Given the description of an element on the screen output the (x, y) to click on. 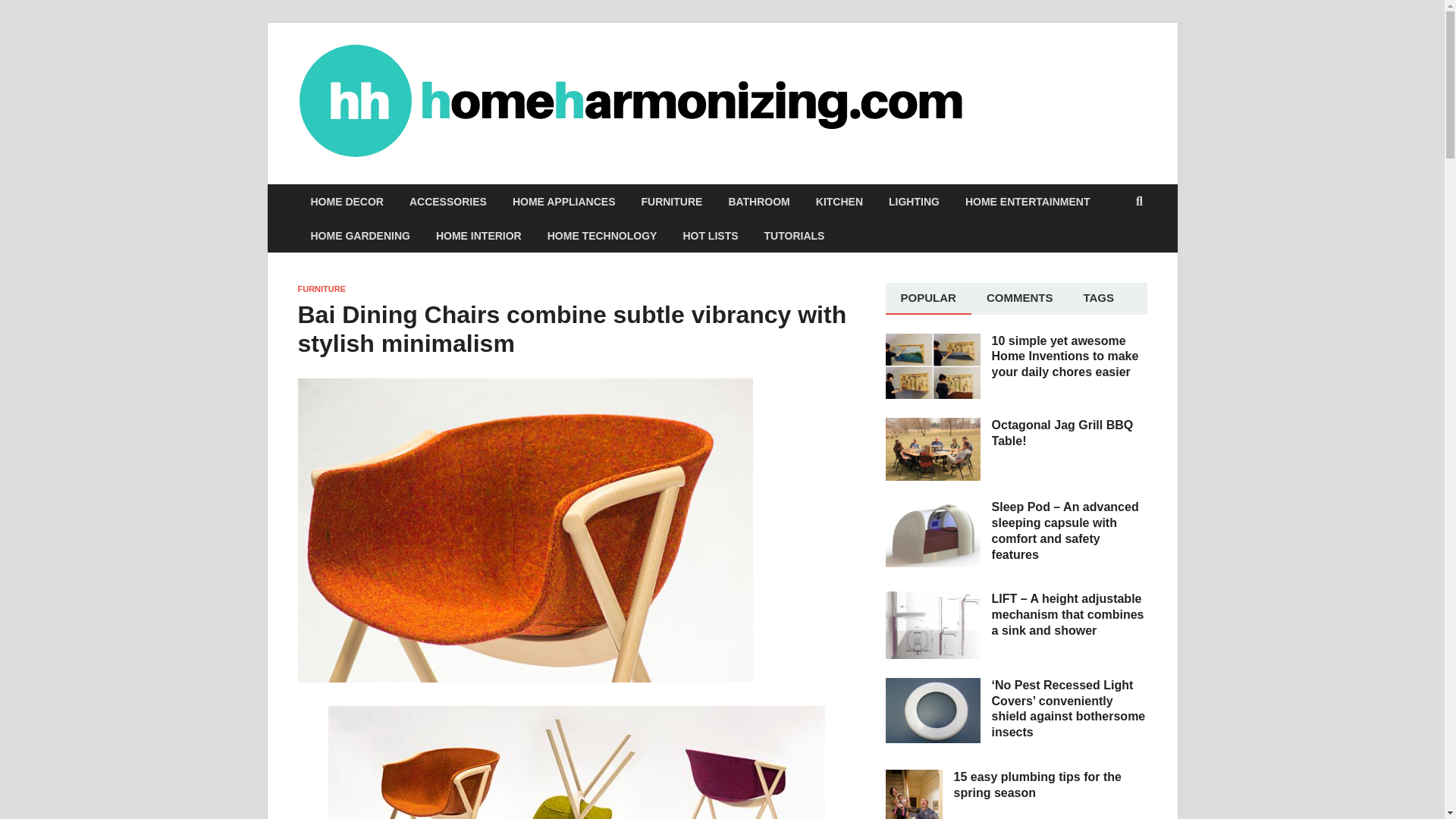
HOME INTERIOR (478, 235)
HOME ENTERTAINMENT (1027, 201)
ACCESSORIES (447, 201)
FURNITURE (321, 288)
KITCHEN (839, 201)
LIGHTING (914, 201)
HOT LISTS (710, 235)
TUTORIALS (794, 235)
Octagonal Jag Grill BBQ Table! (932, 426)
FURNITURE (670, 201)
15 easy plumbing tips for the spring season (913, 778)
HOME DECOR (346, 201)
HOME TECHNOLOGY (601, 235)
BATHROOM (758, 201)
Home Harmonizing (1076, 91)
